Given the description of an element on the screen output the (x, y) to click on. 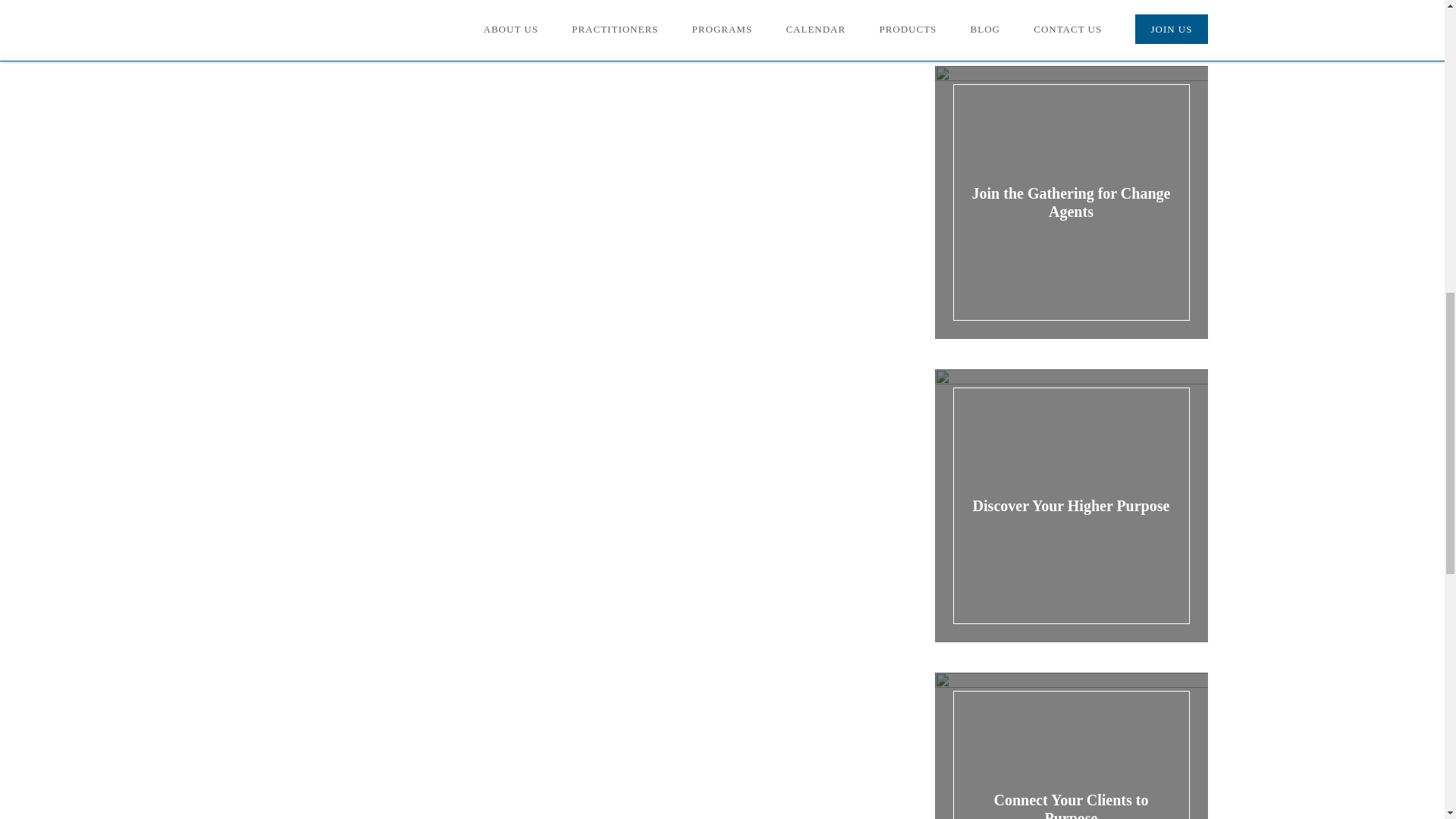
Join the Gathering for Change Agents (1071, 202)
Discover Your Higher Purpose (1071, 505)
Connect Your Clients to Purpose (1071, 764)
